Given the description of an element on the screen output the (x, y) to click on. 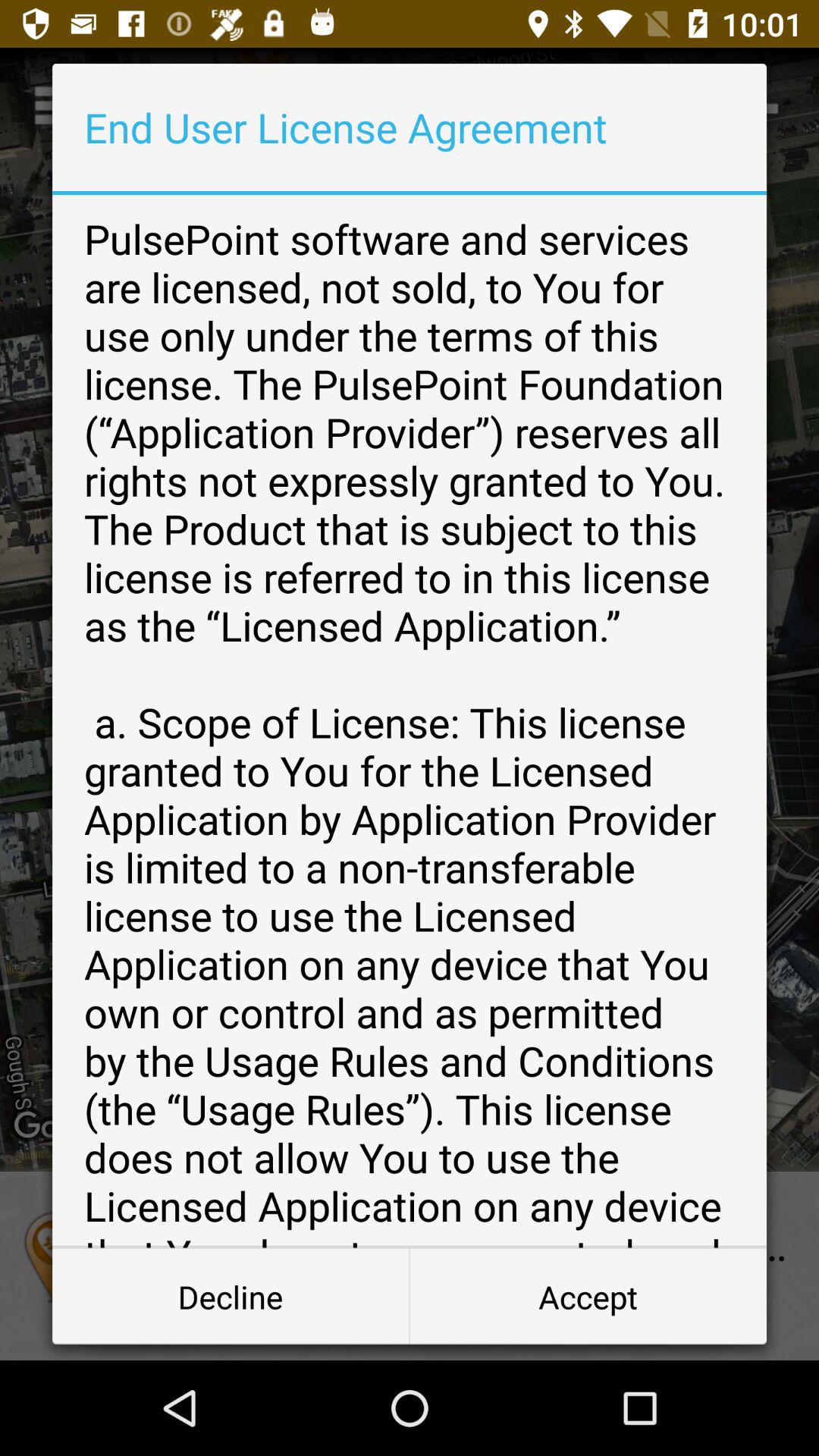
turn off accept (588, 1296)
